Given the description of an element on the screen output the (x, y) to click on. 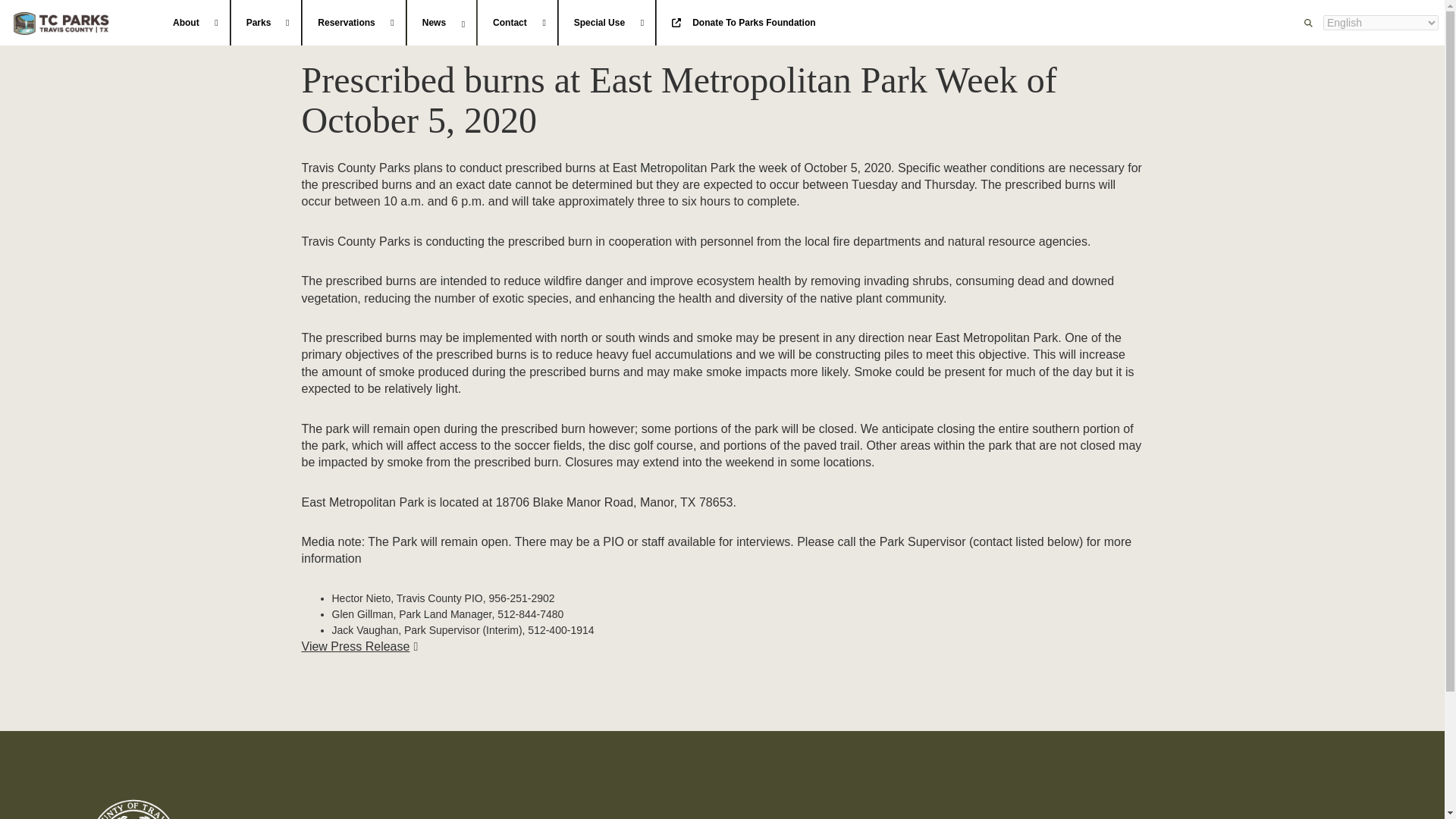
Parks (266, 22)
About (193, 22)
Reservations (353, 22)
